Given the description of an element on the screen output the (x, y) to click on. 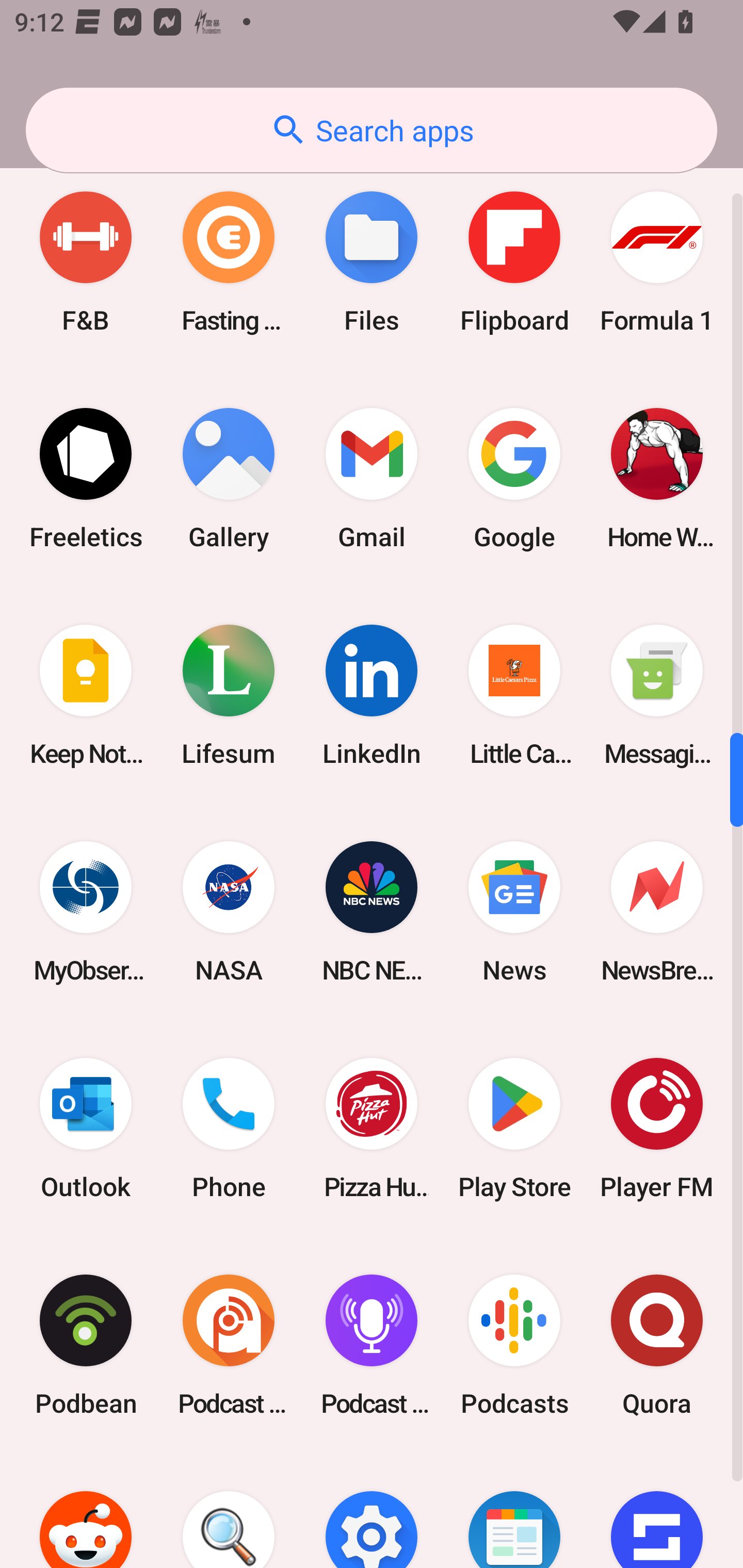
  Search apps (371, 130)
F&B (85, 261)
Fasting Coach (228, 261)
Files (371, 261)
Flipboard (514, 261)
Formula 1 (656, 261)
Freeletics (85, 478)
Gallery (228, 478)
Gmail (371, 478)
Google (514, 478)
Home Workout (656, 478)
Keep Notes (85, 694)
Lifesum (228, 694)
LinkedIn (371, 694)
Little Caesars Pizza (514, 694)
Messaging (656, 694)
MyObservatory (85, 911)
NASA (228, 911)
NBC NEWS (371, 911)
News (514, 911)
NewsBreak (656, 911)
Outlook (85, 1128)
Phone (228, 1128)
Pizza Hut HK & Macau (371, 1128)
Play Store (514, 1128)
Player FM (656, 1128)
Podbean (85, 1345)
Podcast Addict (228, 1345)
Podcast Player (371, 1345)
Podcasts (514, 1345)
Quora (656, 1345)
